Given the description of an element on the screen output the (x, y) to click on. 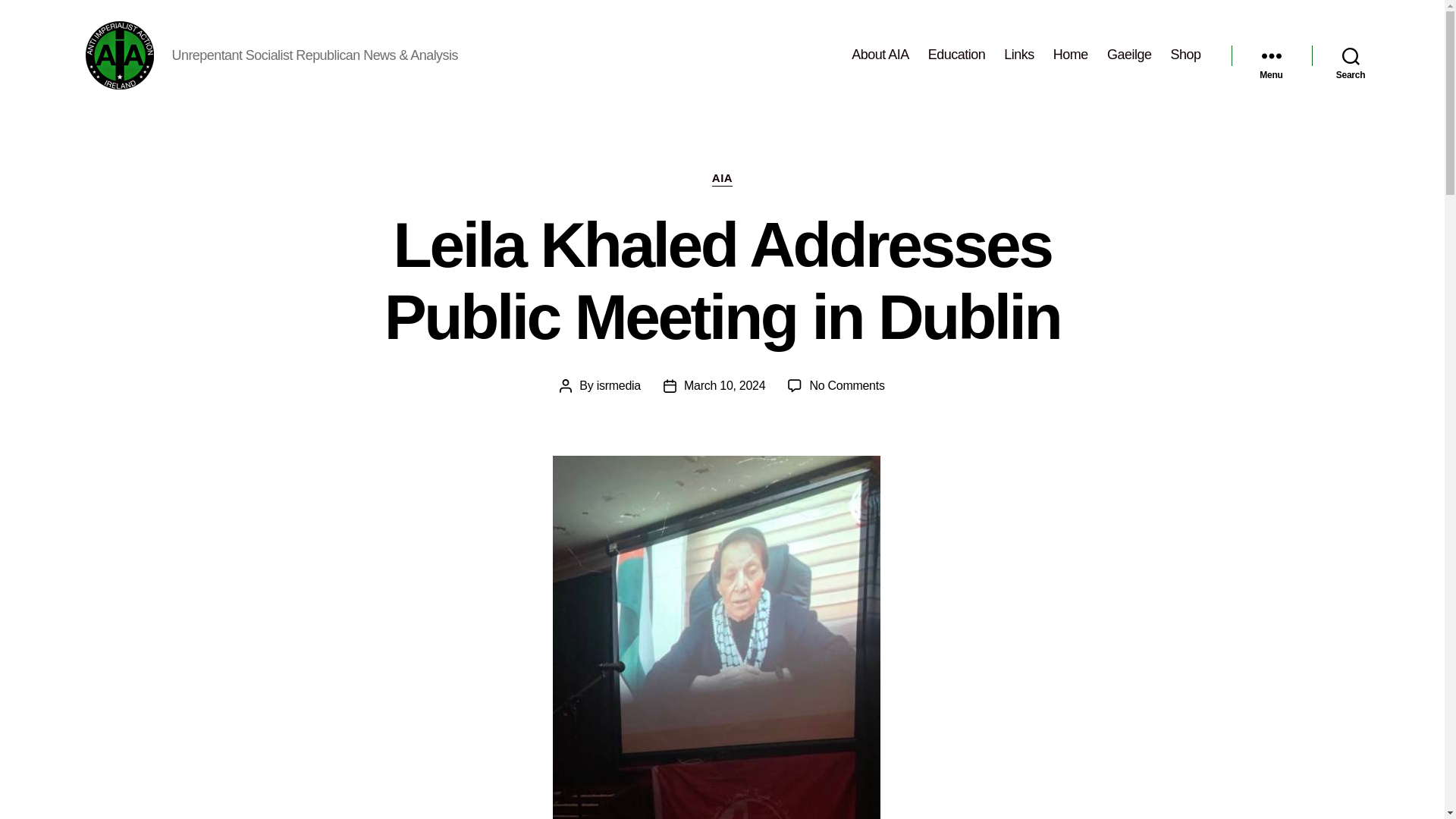
Menu (1271, 55)
Links (1018, 54)
Shop (1184, 54)
isrmedia (618, 385)
Home (1069, 54)
Gaeilge (1128, 54)
Education (956, 54)
Search (1350, 55)
About AIA (879, 54)
AIA (721, 178)
March 10, 2024 (724, 385)
